Given the description of an element on the screen output the (x, y) to click on. 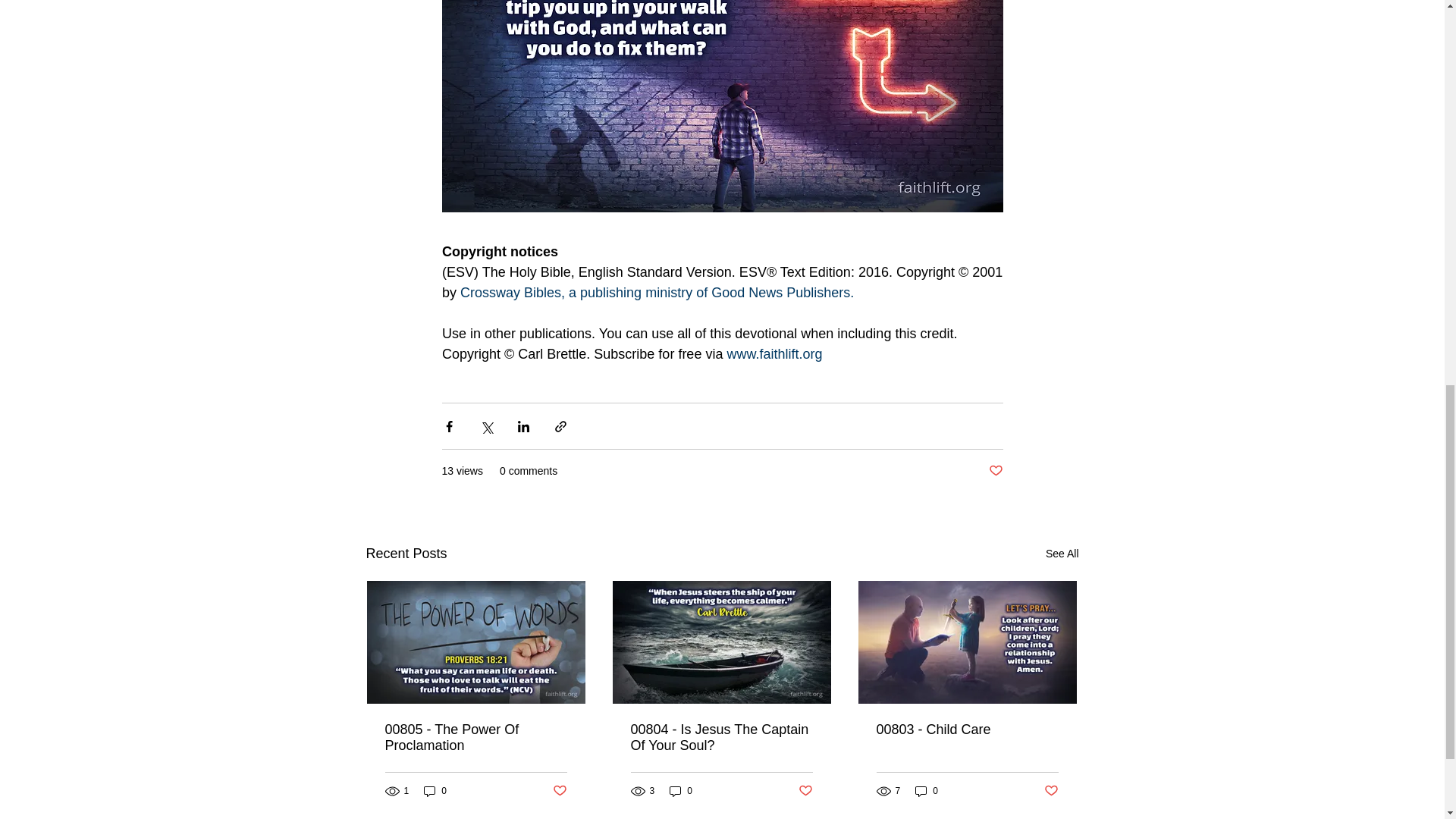
Post not marked as liked (804, 790)
0 (926, 790)
Post not marked as liked (995, 471)
0 (681, 790)
0 (435, 790)
00803 - Child Care (967, 729)
00804 - Is Jesus The Captain Of Your Soul? (721, 737)
00805 - The Power Of Proclamation (476, 737)
See All (1061, 553)
